Given the description of an element on the screen output the (x, y) to click on. 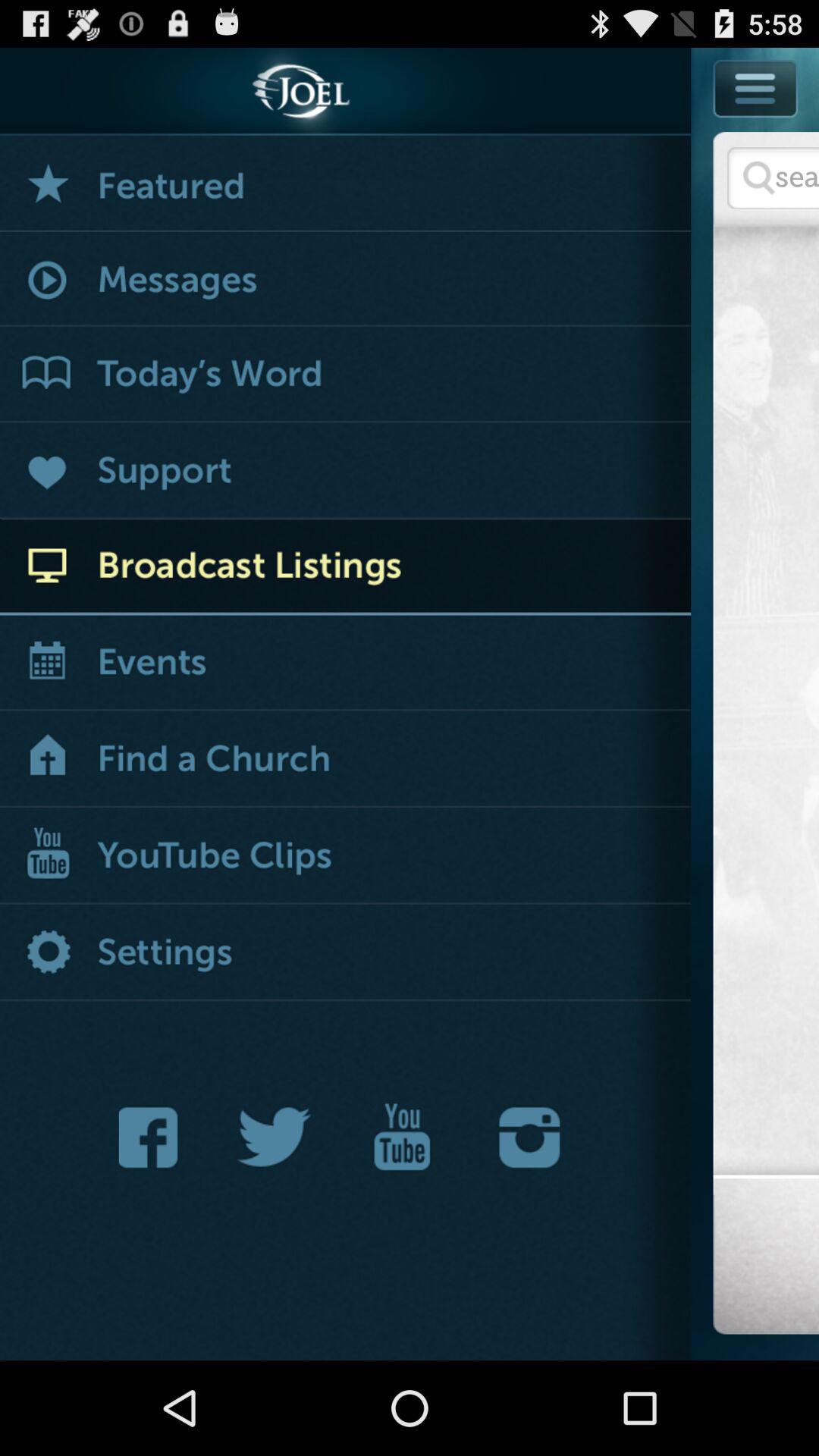
open youtube clips (345, 856)
